Given the description of an element on the screen output the (x, y) to click on. 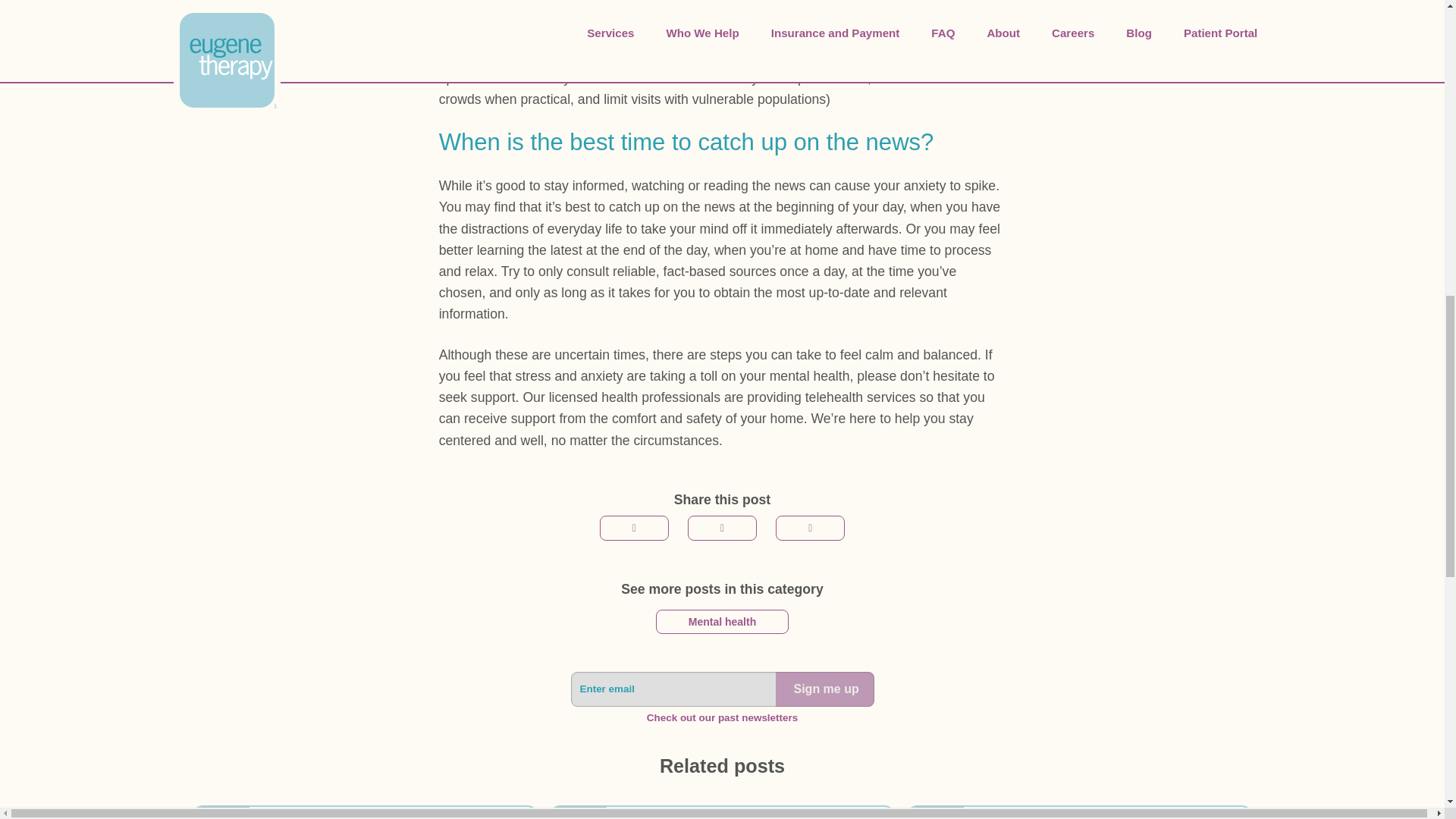
Is COVID-19 Making Your Mental Health Condition Worse? (364, 812)
View previous campaigns (721, 717)
Check out our past newsletters (721, 717)
Mental health (722, 621)
Sign me up (823, 688)
Sign me up (823, 688)
July is Minority Mental Health Awareness Month (721, 812)
